Given the description of an element on the screen output the (x, y) to click on. 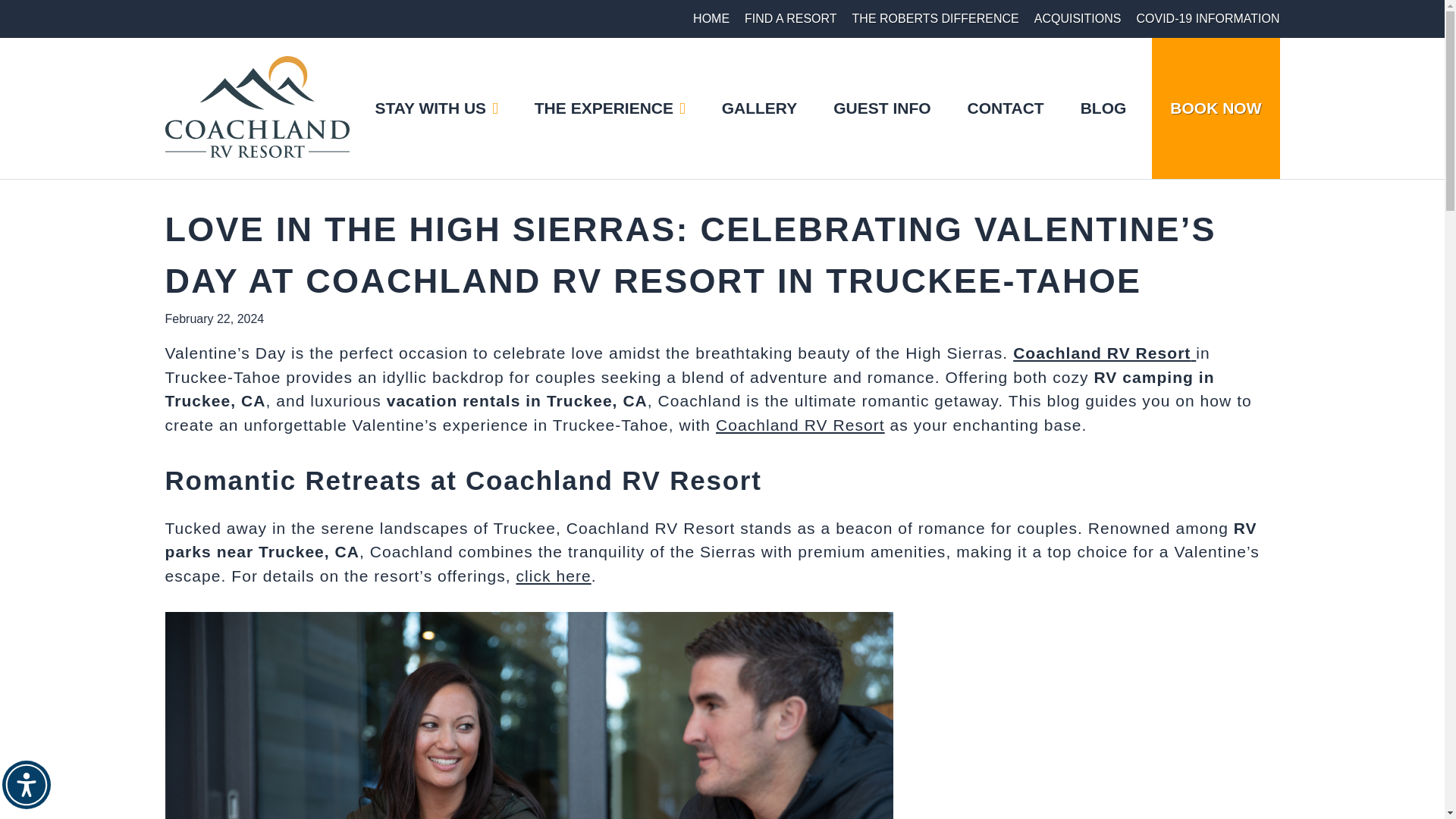
Accessibility Menu (26, 784)
BLOG (1103, 108)
Coachland RV Resort (1104, 352)
HOME (711, 18)
ACQUISITIONS (1077, 18)
THE EXPERIENCE (609, 108)
STAY WITH US (435, 108)
Go Home (257, 108)
Coachland RV Resort (800, 425)
CONTACT (1005, 108)
COVID-19 INFORMATION (1207, 18)
click here (553, 575)
GUEST INFO (881, 108)
THE ROBERTS DIFFERENCE (935, 18)
FIND A RESORT (790, 18)
